Given the description of an element on the screen output the (x, y) to click on. 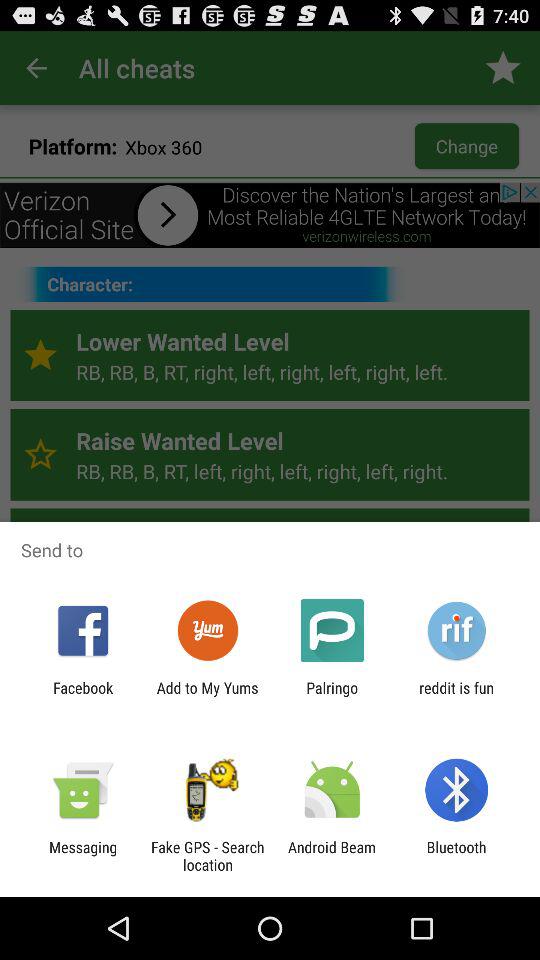
swipe until the android beam (332, 856)
